Given the description of an element on the screen output the (x, y) to click on. 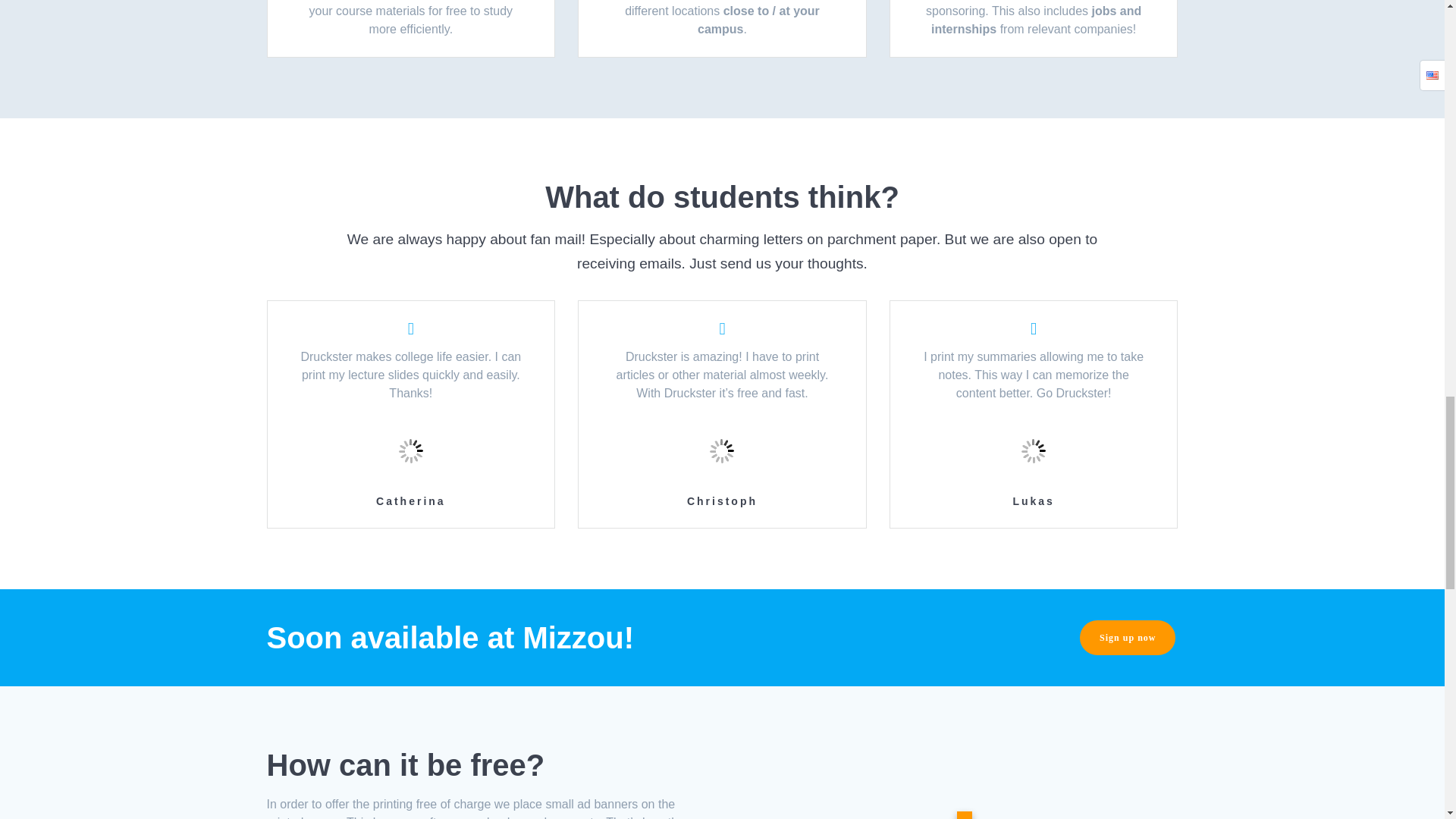
Chris-testimonial (721, 450)
Lukas-testimonial (1033, 450)
Sign up now (1127, 637)
